Given the description of an element on the screen output the (x, y) to click on. 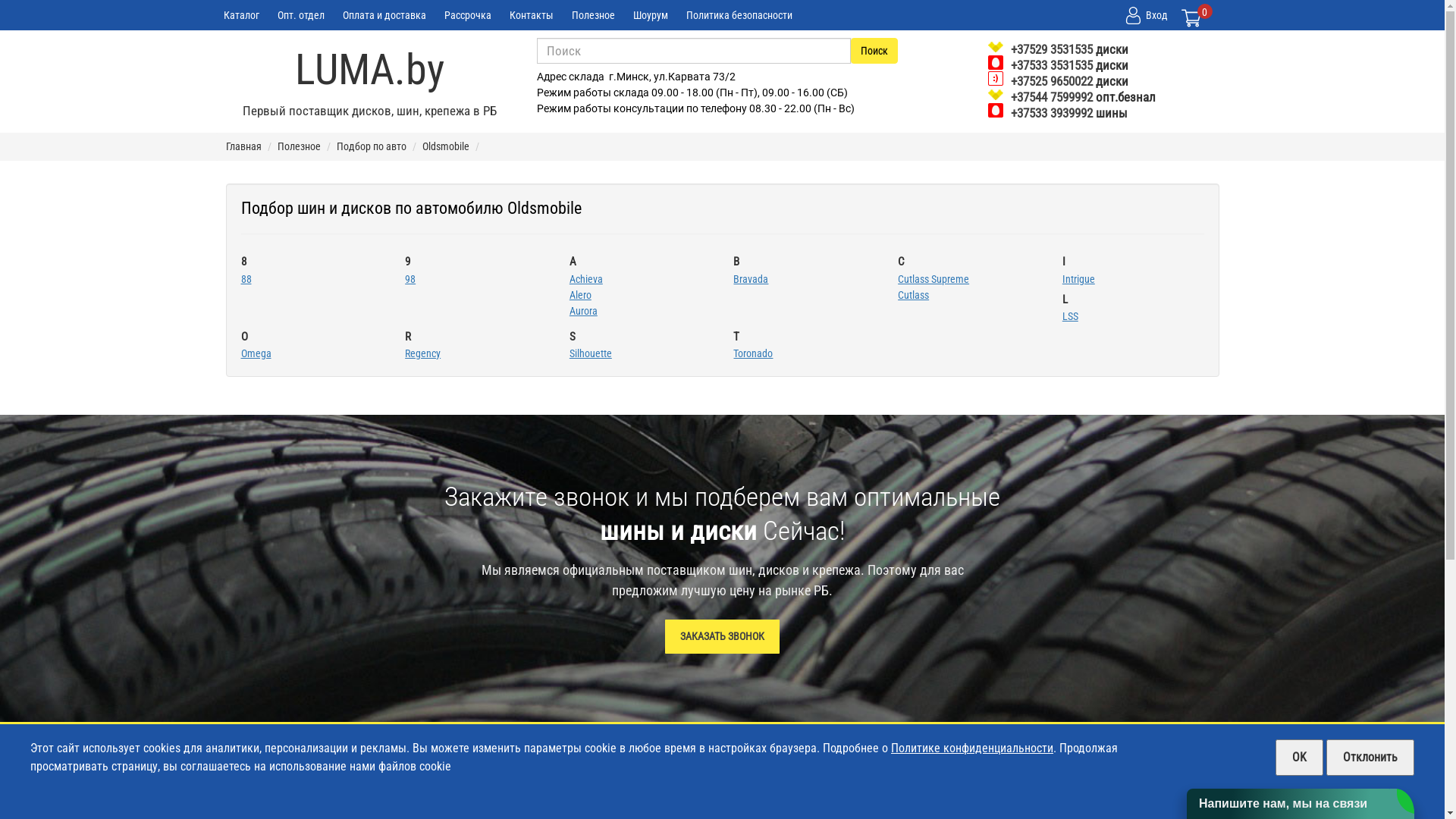
98 Element type: text (409, 279)
Intrigue Element type: text (1078, 279)
Cutlass Element type: text (912, 294)
Silhouette Element type: text (590, 353)
Aurora Element type: text (583, 310)
Oldsmobile Element type: text (444, 146)
Alero Element type: text (580, 294)
Cutlass Supreme Element type: text (933, 279)
Regency Element type: text (422, 353)
Achieva Element type: text (585, 279)
88 Element type: text (246, 279)
Bravada Element type: text (750, 279)
LSS Element type: text (1070, 316)
Omega Element type: text (256, 353)
Toronado Element type: text (752, 353)
